Given the description of an element on the screen output the (x, y) to click on. 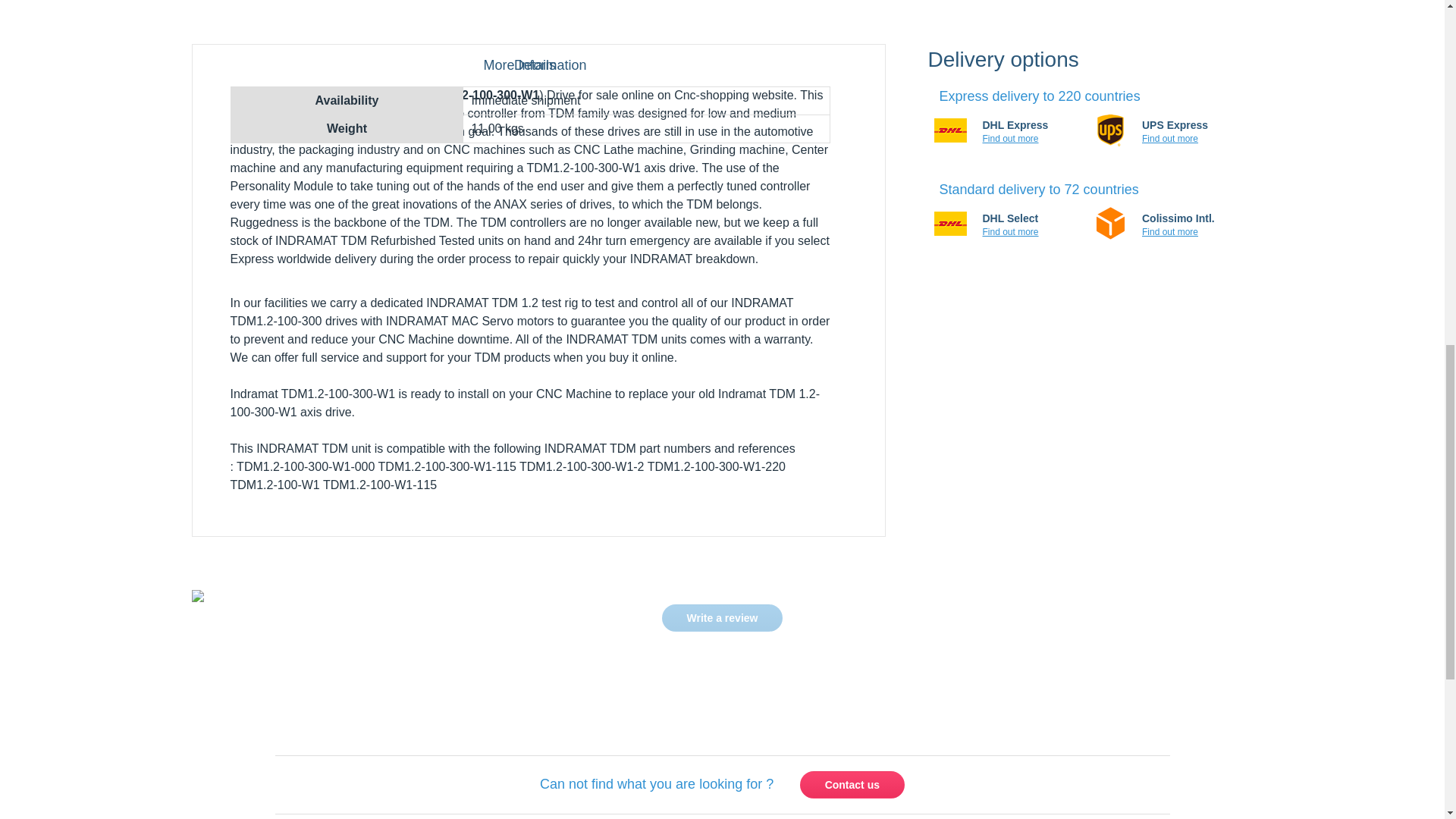
Contact us (851, 784)
